Given the description of an element on the screen output the (x, y) to click on. 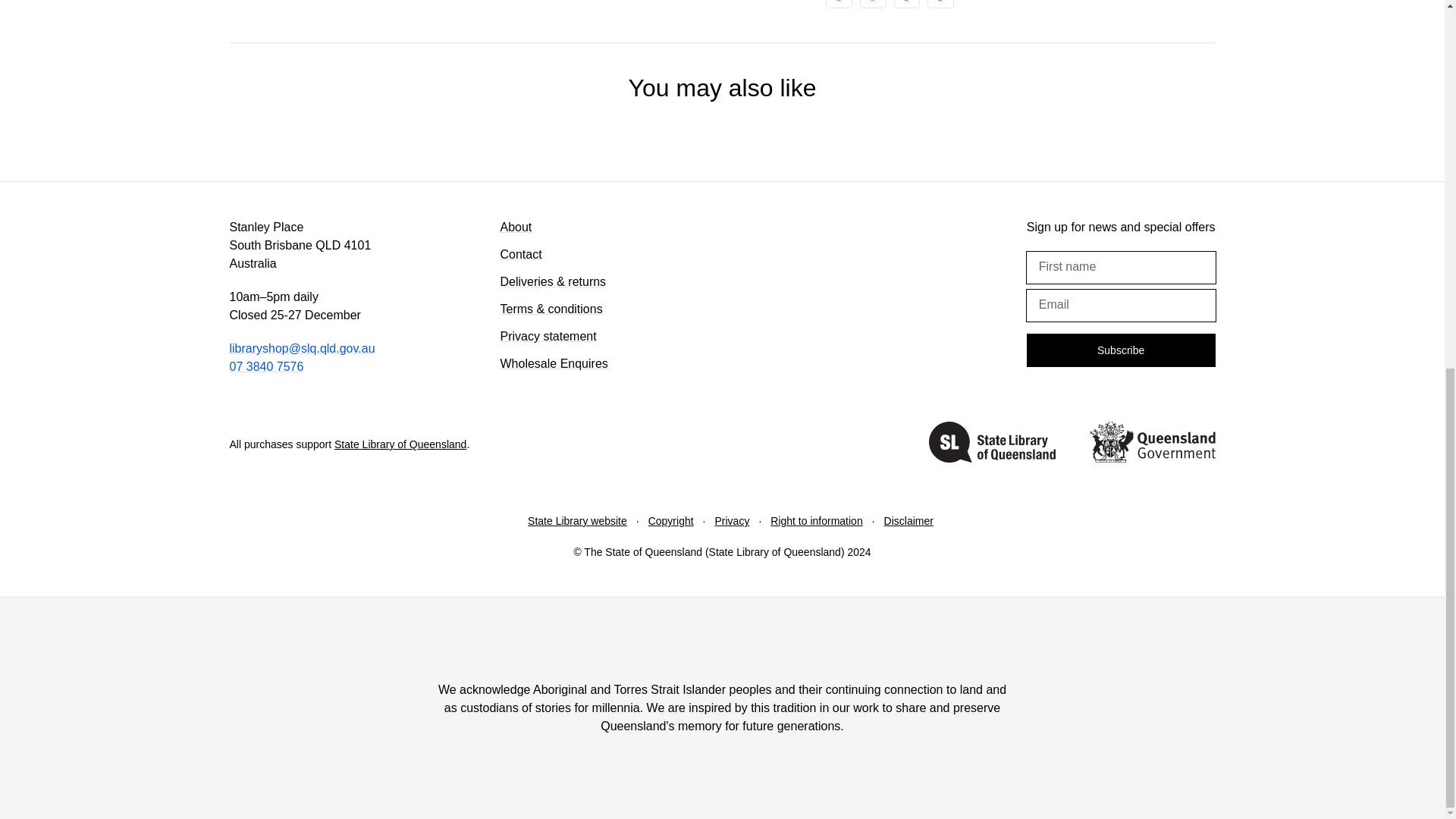
tel:07 3840 7576 (265, 366)
Go to Queensland Government homepage (1151, 444)
Go to Queensland State Library homepage (992, 444)
